Given the description of an element on the screen output the (x, y) to click on. 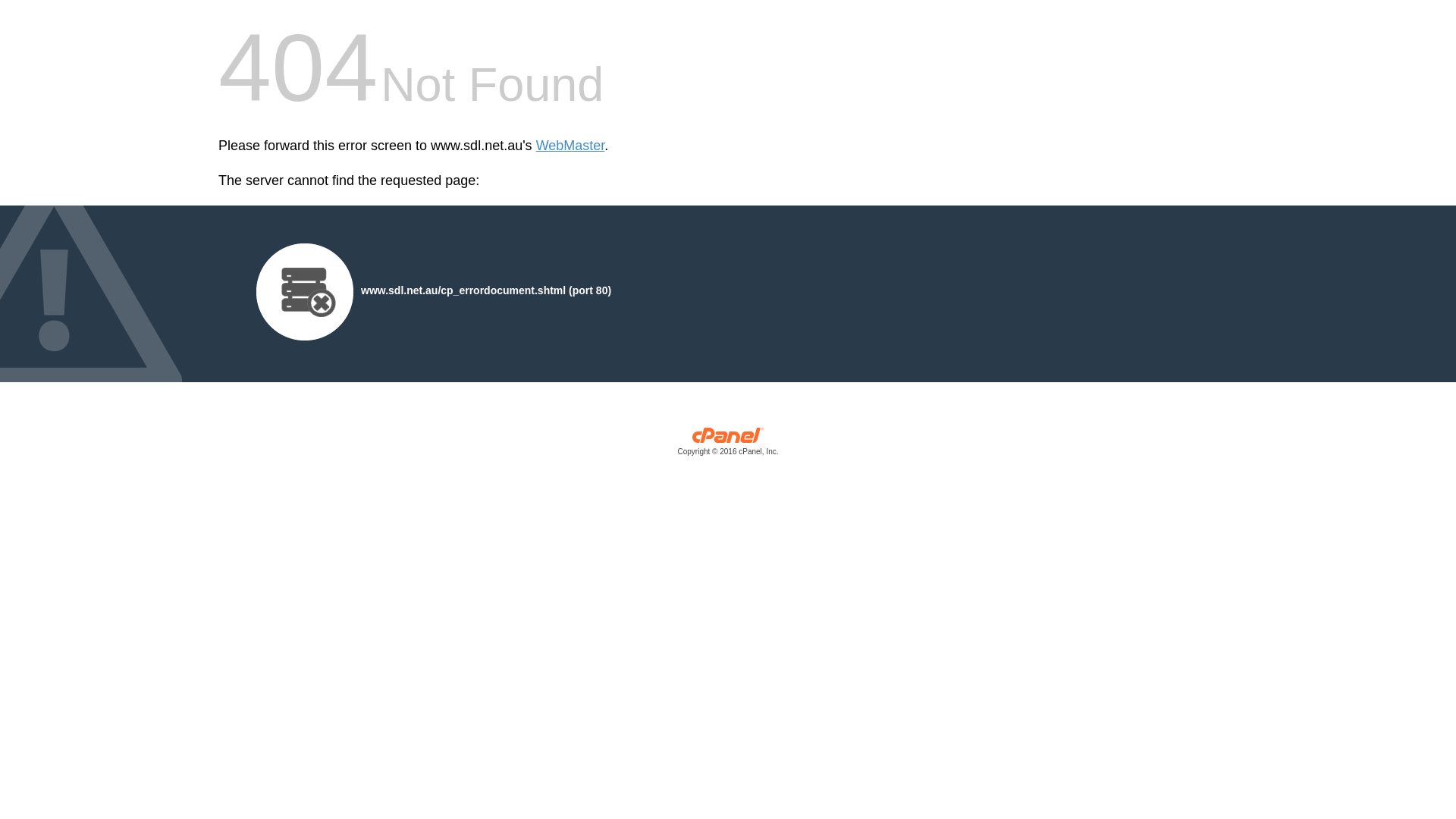
WebMaster Element type: text (570, 145)
